Given the description of an element on the screen output the (x, y) to click on. 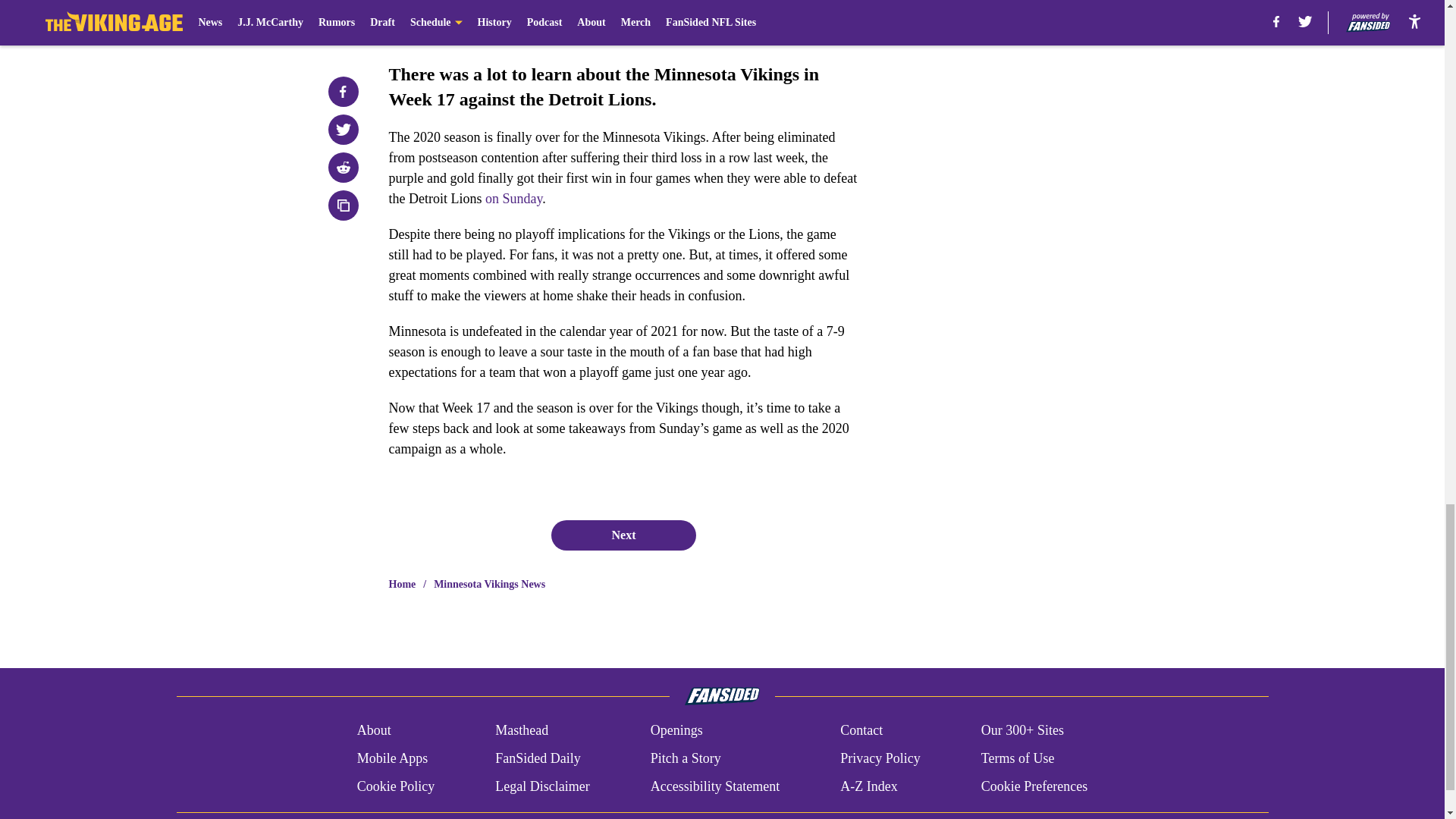
About (373, 730)
Pitch a Story (685, 758)
FanSided Daily (537, 758)
Contact (861, 730)
on Sunday (512, 198)
Privacy Policy (880, 758)
Home (401, 584)
Terms of Use (1017, 758)
Next (622, 535)
Minnesota Vikings News (488, 584)
Masthead (521, 730)
Mobile Apps (392, 758)
Openings (676, 730)
